Given the description of an element on the screen output the (x, y) to click on. 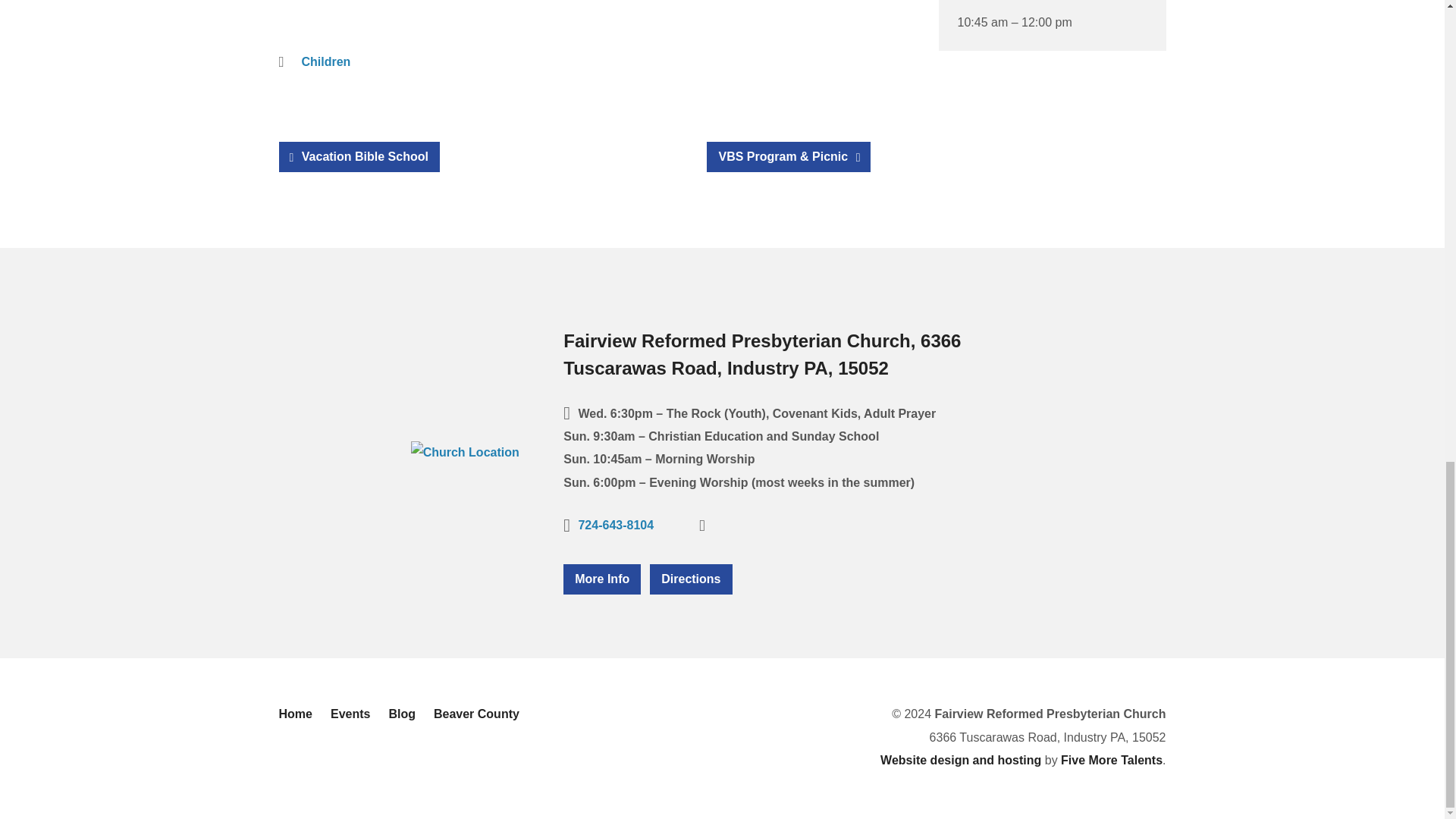
Church Location (464, 451)
